Given the description of an element on the screen output the (x, y) to click on. 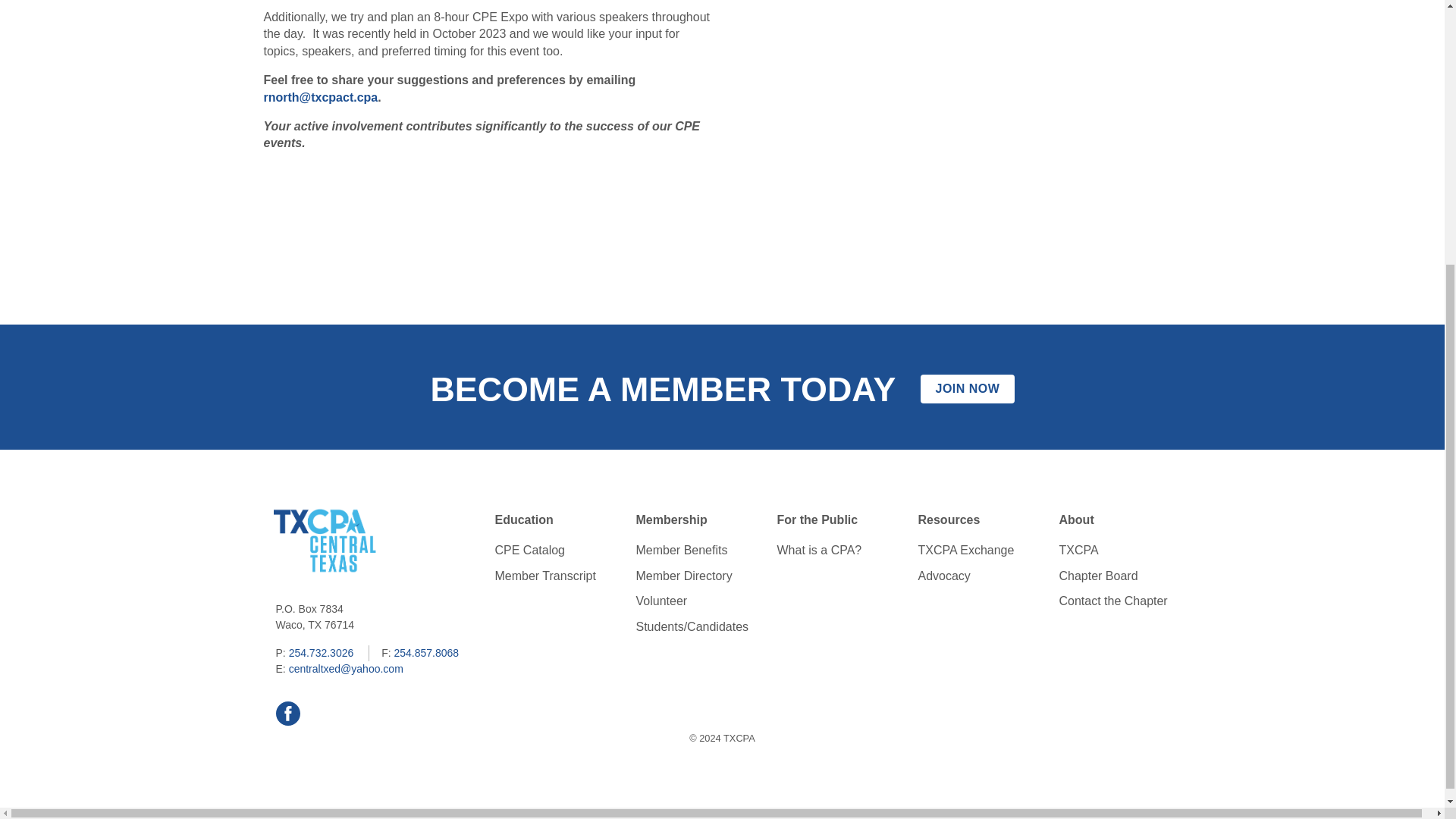
CPE Catalog (563, 550)
Education (556, 520)
JOIN NOW (966, 388)
Member Transcript (563, 576)
